Given the description of an element on the screen output the (x, y) to click on. 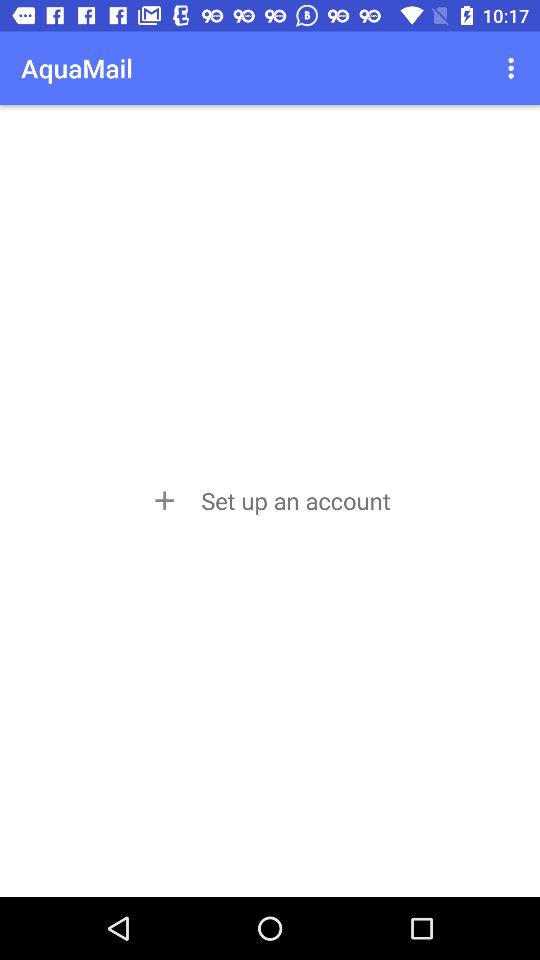
choose icon next to the aquamail icon (513, 67)
